Given the description of an element on the screen output the (x, y) to click on. 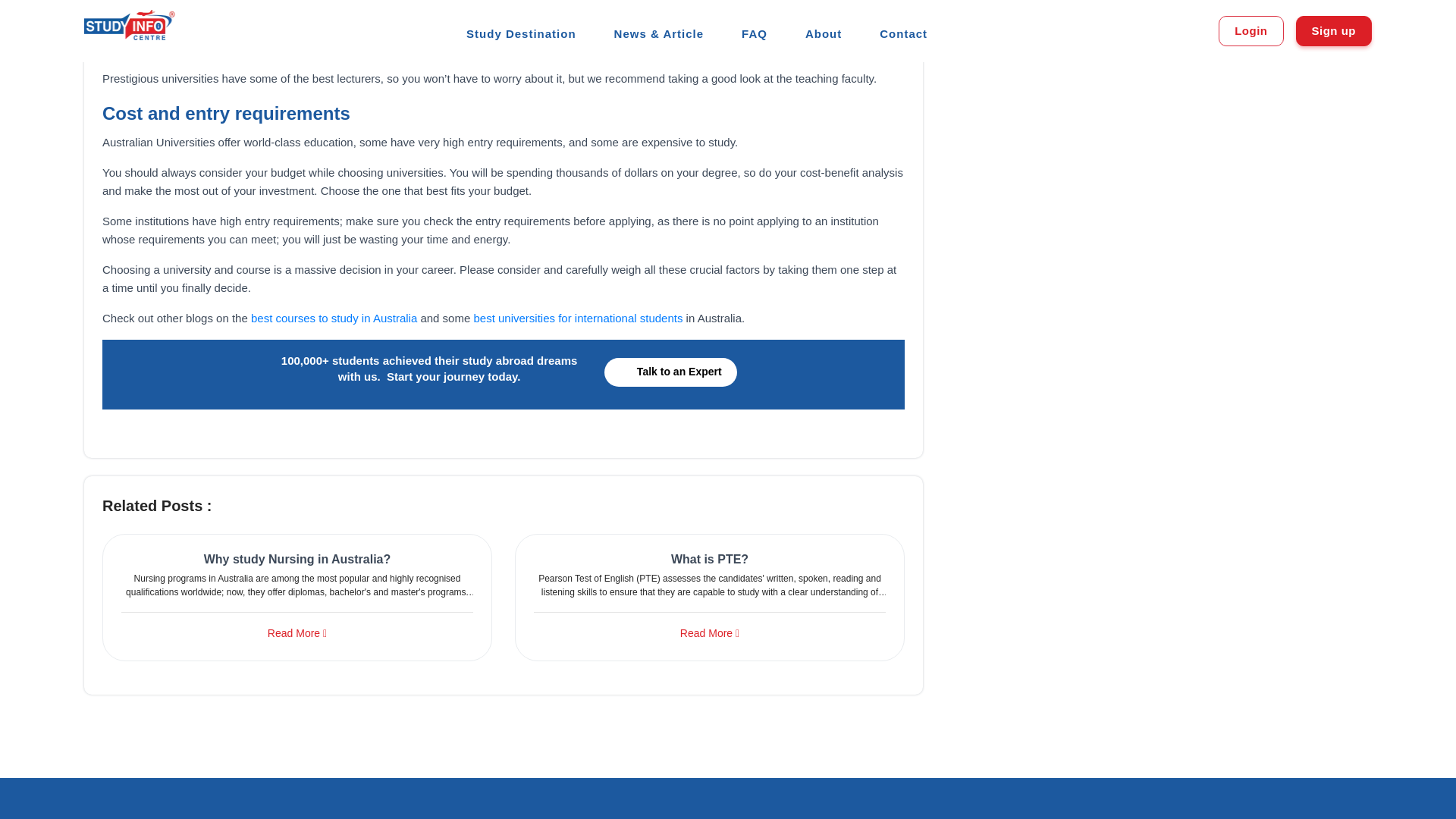
best universities for international students (577, 317)
  Talk to an Expert (670, 371)
best courses to study in Australia (333, 317)
Read More (709, 633)
Read More (296, 633)
